Given the description of an element on the screen output the (x, y) to click on. 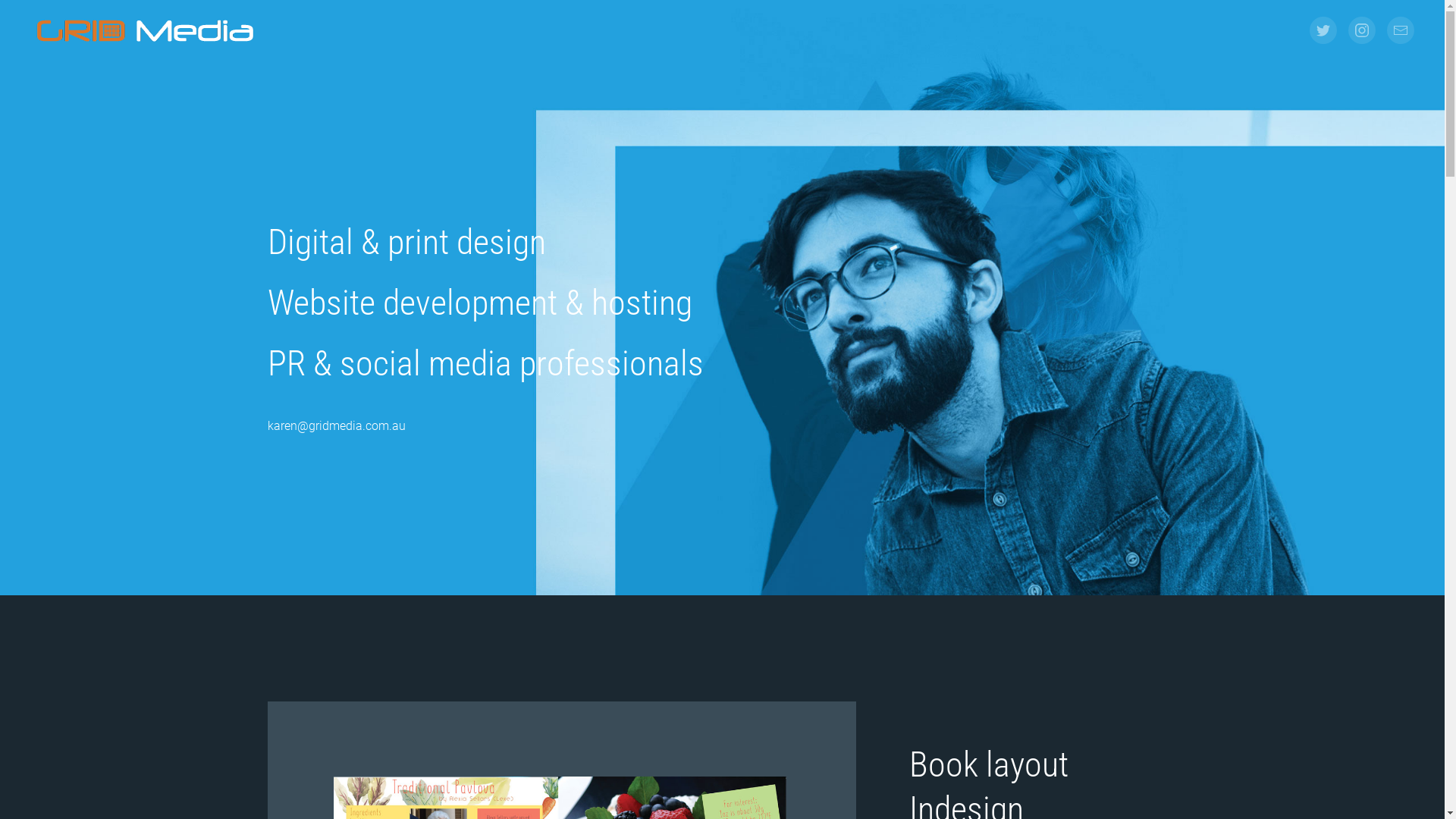
karen@gridmedia.com.au Element type: text (335, 425)
